Given the description of an element on the screen output the (x, y) to click on. 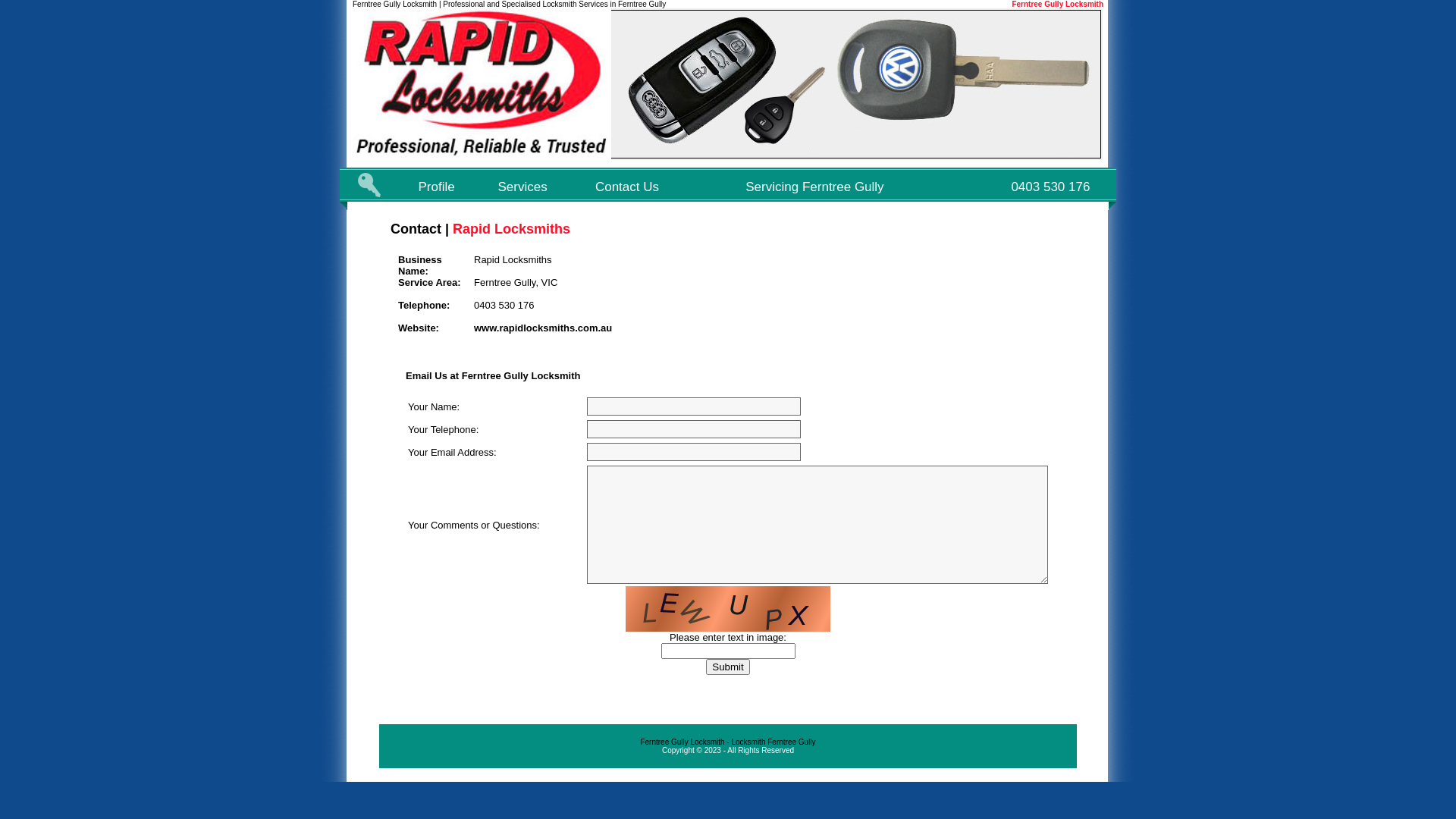
www.rapidlocksmiths.com.au Element type: text (542, 326)
Ferntree Gully Locksmith Element type: text (1057, 4)
Services Element type: text (522, 185)
Contact Us Element type: text (626, 185)
Profile Element type: text (436, 185)
Submit Element type: text (727, 666)
